Given the description of an element on the screen output the (x, y) to click on. 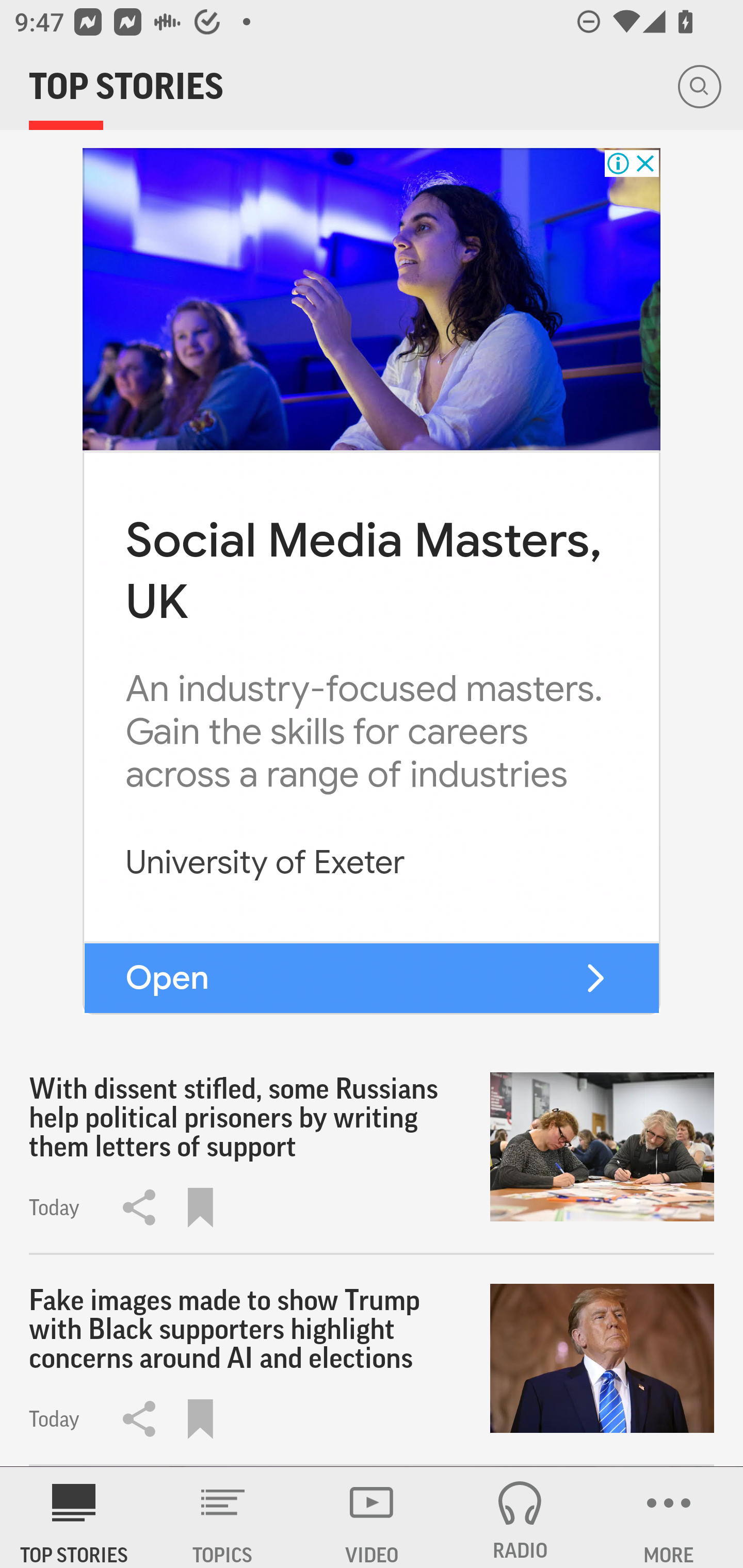
Social Media Masters, UK Social Media Masters, UK (363, 571)
University of Exeter (264, 863)
Open (167, 977)
AP News TOP STORIES (74, 1517)
TOPICS (222, 1517)
VIDEO (371, 1517)
RADIO (519, 1517)
MORE (668, 1517)
